Given the description of an element on the screen output the (x, y) to click on. 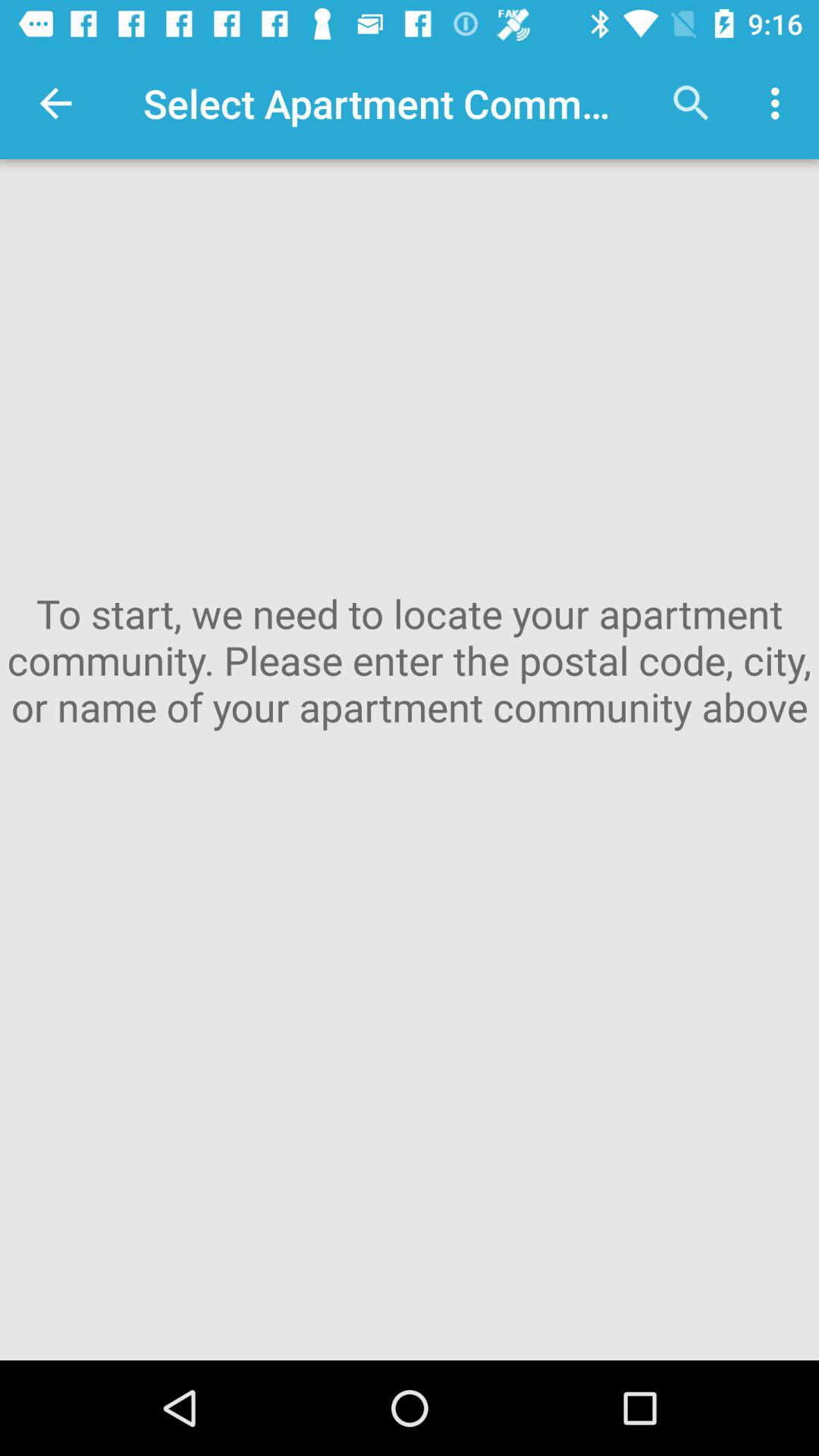
choose the icon next to the select apartment community app (691, 103)
